Given the description of an element on the screen output the (x, y) to click on. 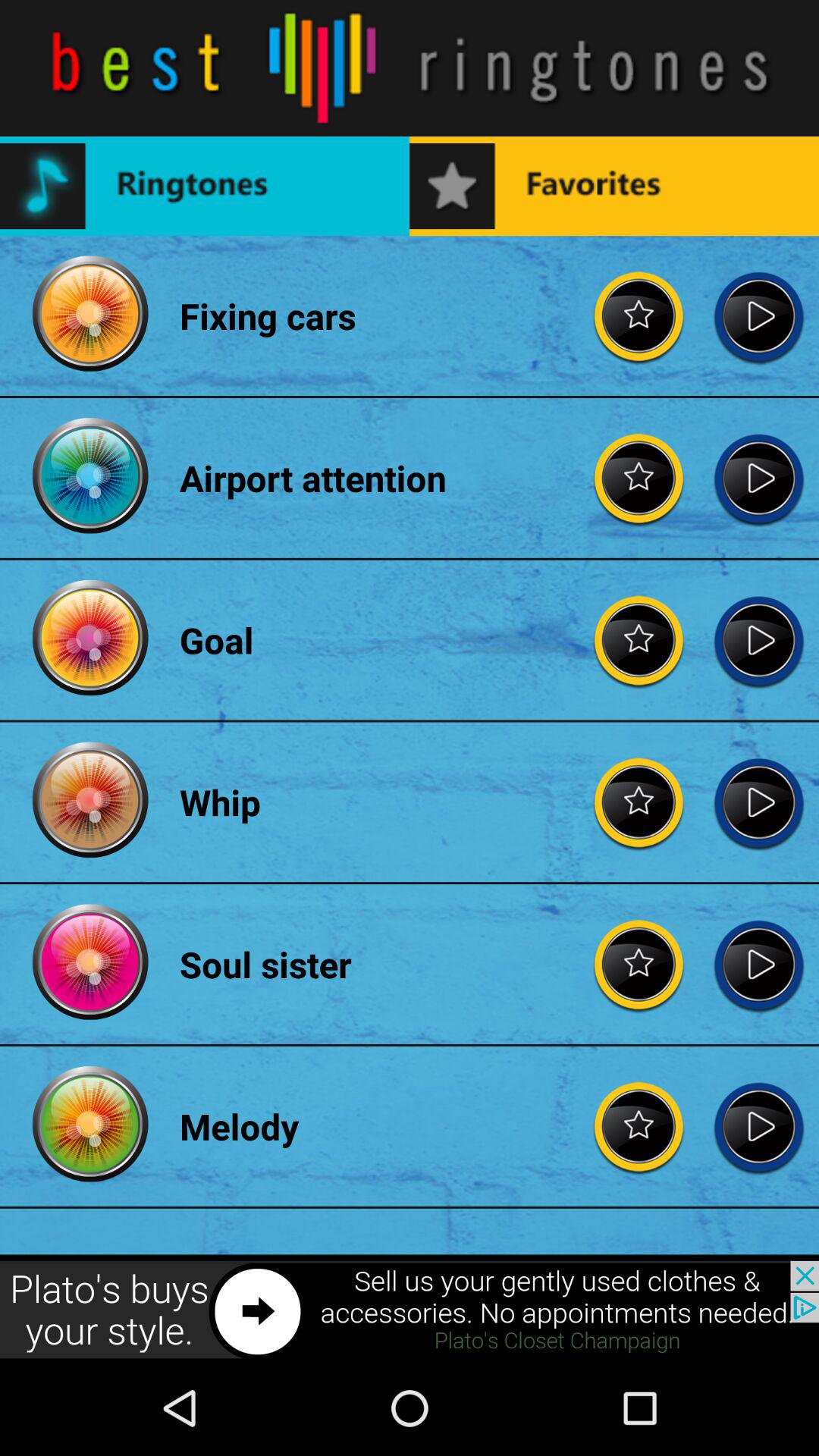
switch autoplay option (758, 477)
